Given the description of an element on the screen output the (x, y) to click on. 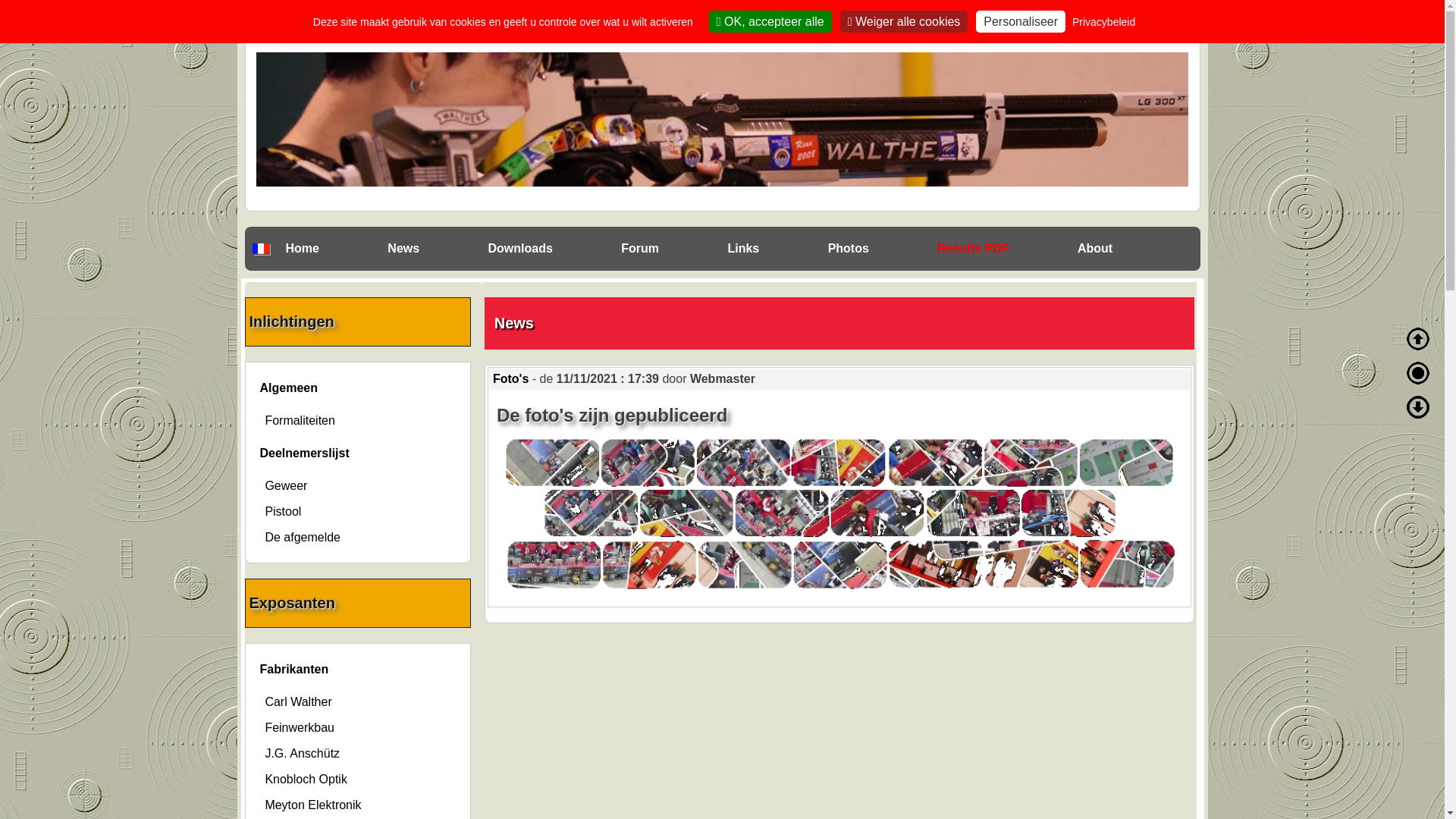
Privacybeleid Element type: text (1103, 21)
Personaliseer Element type: text (1020, 21)
Results PDF Element type: text (972, 247)
Geweer Element type: text (285, 485)
Photos Element type: text (848, 247)
Links Element type: text (743, 247)
Carl Walther Element type: text (297, 701)
About Element type: text (1094, 247)
Forum Element type: text (639, 247)
Foto's Element type: text (512, 378)
Search Element type: hover (521, 19)
Onderaan Element type: hover (1417, 406)
Pistool Element type: text (282, 511)
News Element type: text (403, 247)
De afgemelde Element type: text (302, 536)
Meyton Elektronik Element type: text (312, 804)
Top Element type: hover (1417, 338)
Menu Element type: hover (1172, 24)
Formaliteiten Element type: text (299, 420)
Midden Element type: hover (1417, 372)
Home Element type: text (301, 247)
Connect Element type: hover (1139, 22)
Knobloch Optik Element type: text (305, 778)
Weiger alle cookies Element type: text (904, 21)
OK, accepteer alle Element type: text (770, 21)
Downloads Element type: text (520, 247)
Feinwerkbau Element type: text (299, 727)
